Given the description of an element on the screen output the (x, y) to click on. 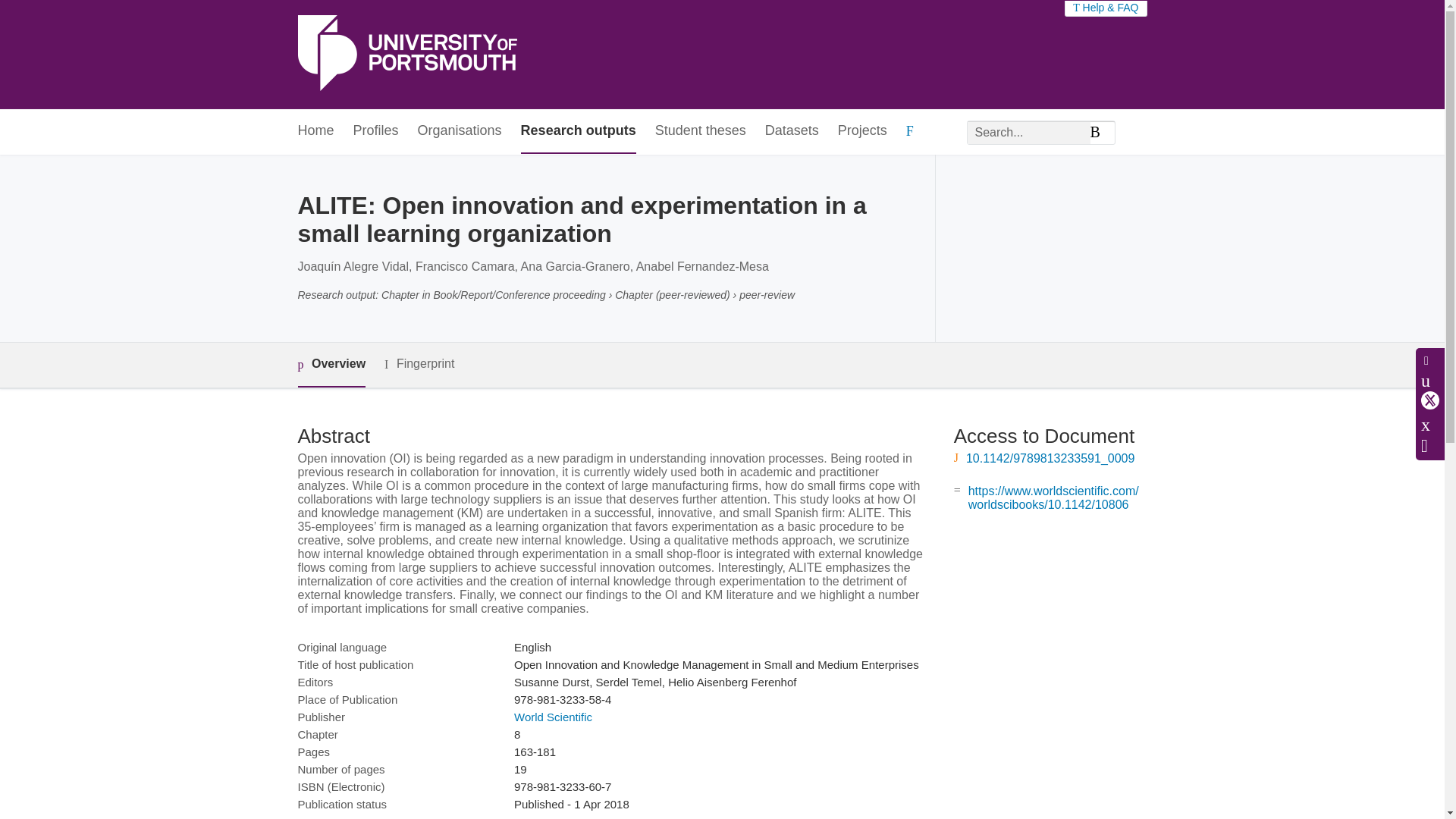
Profiles (375, 130)
Datasets (791, 130)
Research outputs (578, 130)
Organisations (459, 130)
Projects (862, 130)
University of Portsmouth Home (406, 54)
Fingerprint (419, 364)
World Scientific (552, 716)
Overview (331, 365)
